Given the description of an element on the screen output the (x, y) to click on. 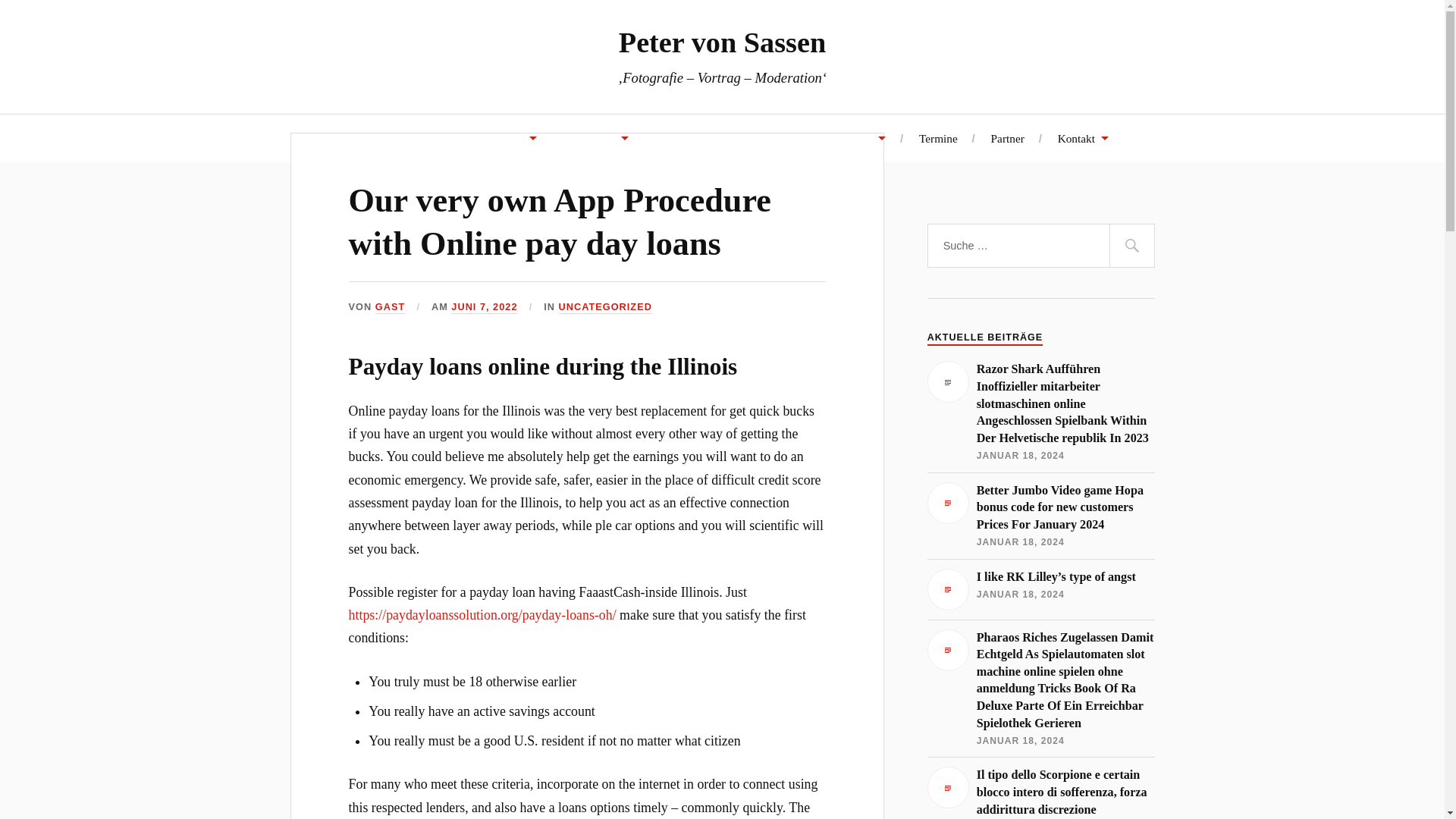
Lesungen (598, 137)
Kontakt (1083, 137)
Moderation (689, 137)
Peter von Sassen (721, 42)
Our very own App Procedure with Online pay day loans (560, 221)
Multimedia Reportagen (474, 137)
Startseite (357, 137)
